Given the description of an element on the screen output the (x, y) to click on. 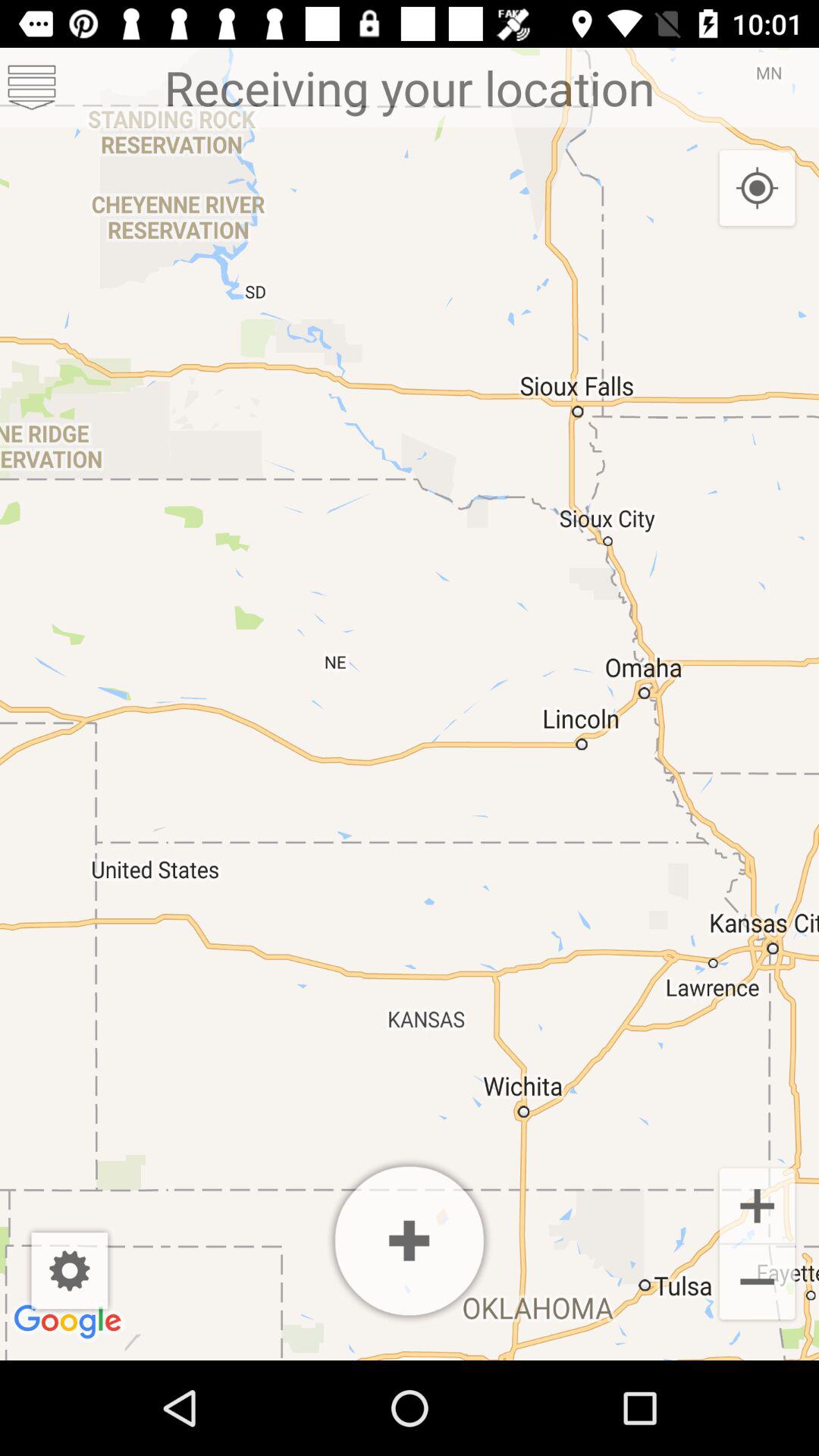
tap app below the receiving your location (409, 1240)
